Given the description of an element on the screen output the (x, y) to click on. 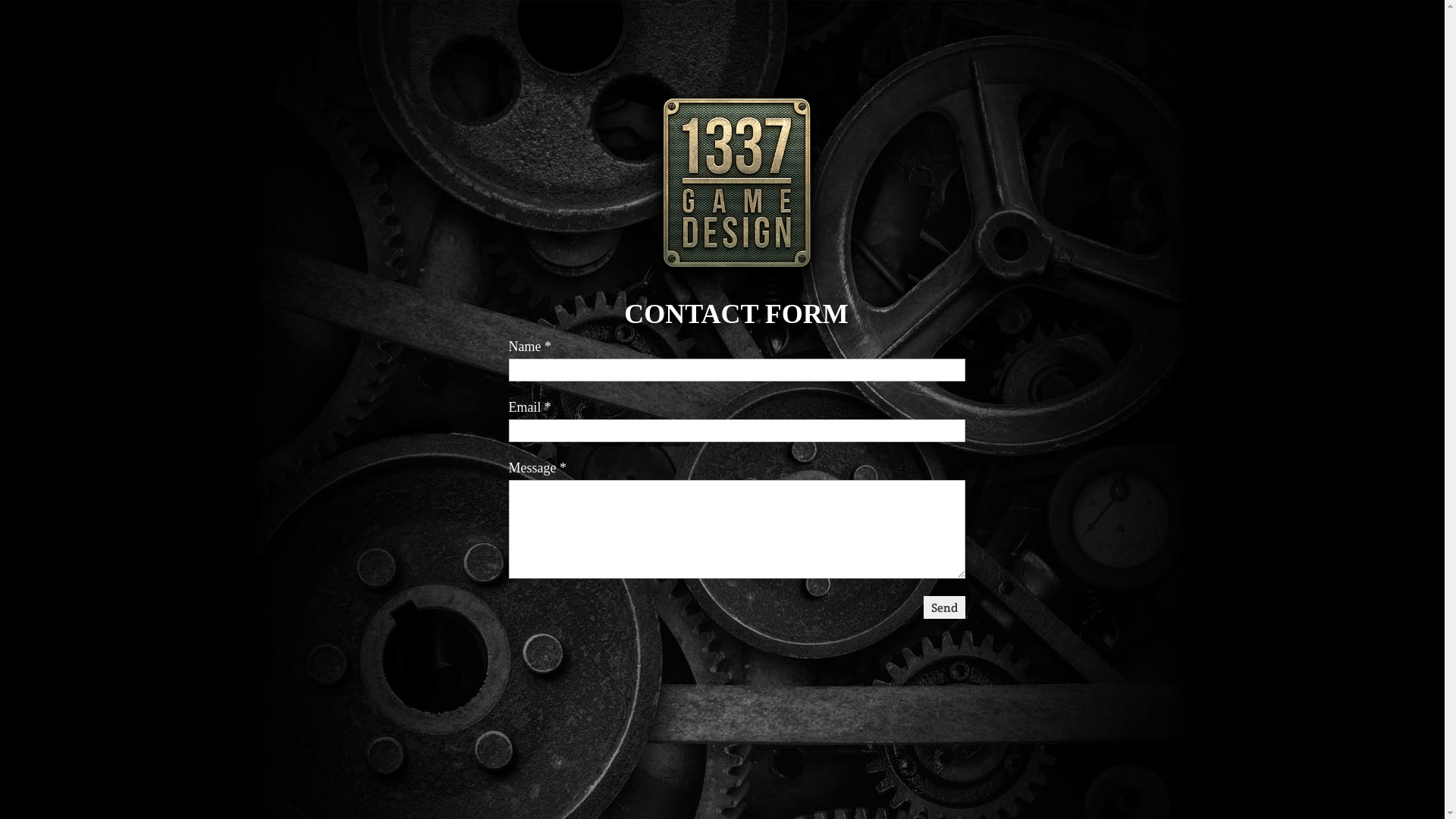
Send Element type: text (944, 607)
